Given the description of an element on the screen output the (x, y) to click on. 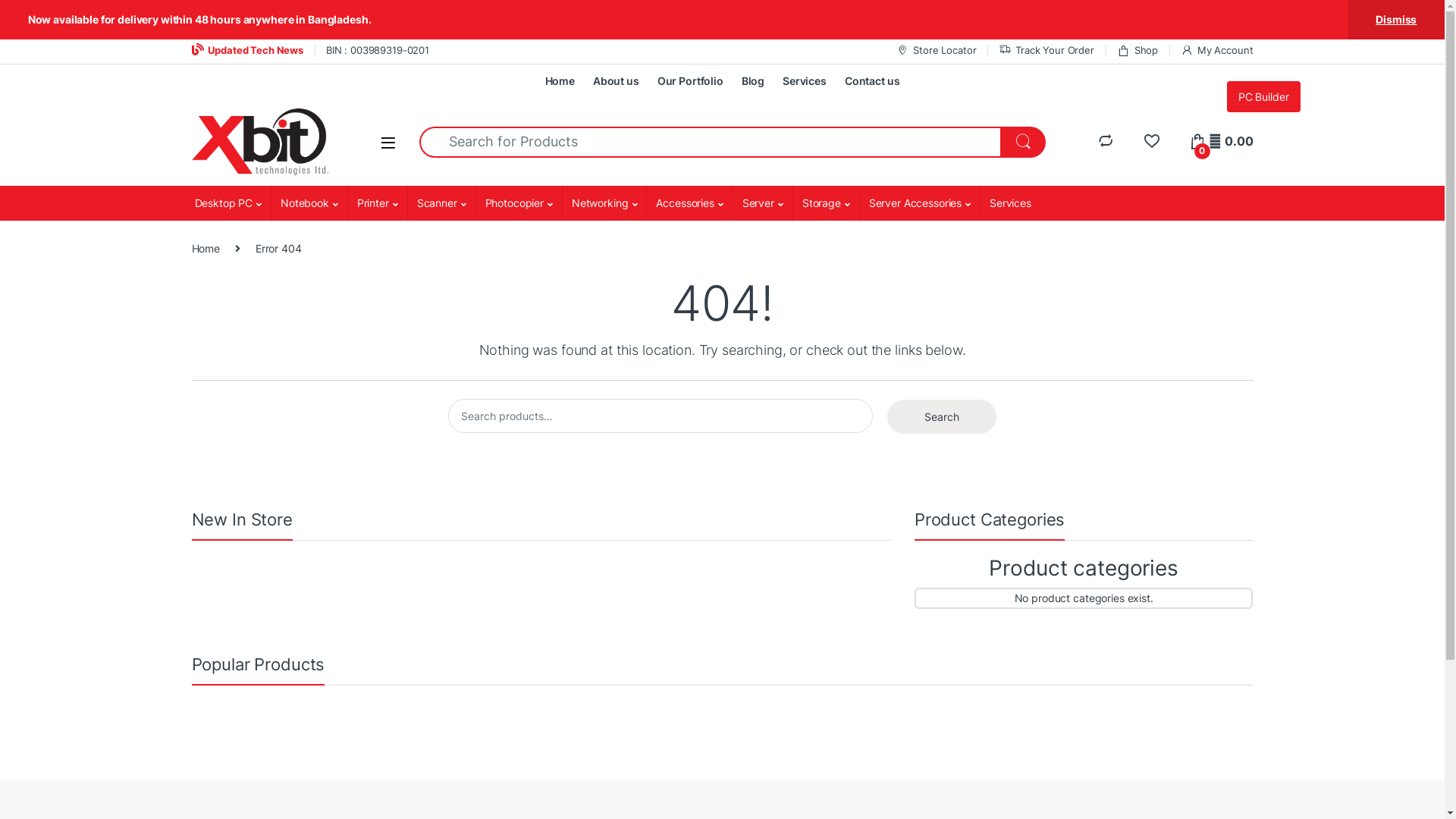
Storage Element type: text (825, 202)
Our Portfolio Element type: text (690, 80)
Desktop PC Element type: text (227, 202)
BIN : 003989319-0201 Element type: text (377, 49)
Store Locator Element type: text (935, 49)
About us Element type: text (615, 80)
Dismiss Element type: text (1396, 19)
Services Element type: text (1009, 202)
Home Element type: text (205, 247)
My Account Element type: text (1216, 49)
Server Element type: text (762, 202)
Scanner Element type: text (441, 202)
Accessories Element type: text (688, 202)
Contact us Element type: text (872, 80)
Blog Element type: text (752, 80)
PC Builder Element type: text (1263, 96)
Notebook Element type: text (308, 202)
Search Element type: text (941, 416)
Home Element type: text (559, 80)
Printer Element type: text (377, 202)
Track Your Order Element type: text (1046, 49)
Networking Element type: text (603, 202)
Photocopier Element type: text (518, 202)
Updated Tech News Element type: text (247, 49)
Server Accessories Element type: text (919, 202)
Services Element type: text (804, 80)
Shop Element type: text (1137, 49)
